Given the description of an element on the screen output the (x, y) to click on. 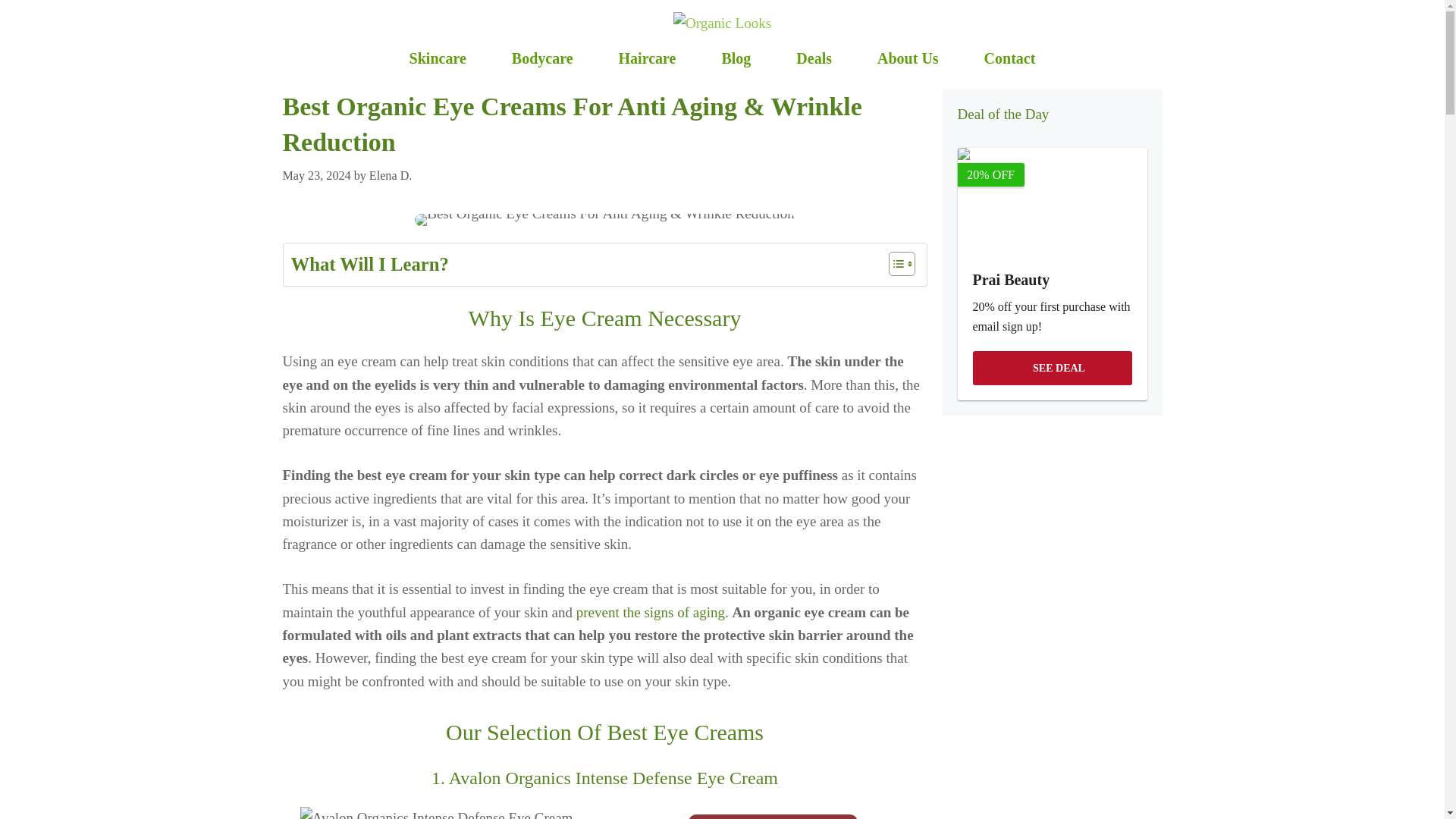
Bodycare (542, 58)
About Us (907, 58)
prevent the signs of aging (650, 611)
Check price at Swanson (772, 816)
Contact (1009, 58)
Deals (813, 58)
Haircare (646, 58)
Organic Looks Homepage (721, 22)
Skincare (438, 58)
Blog (735, 58)
